Given the description of an element on the screen output the (x, y) to click on. 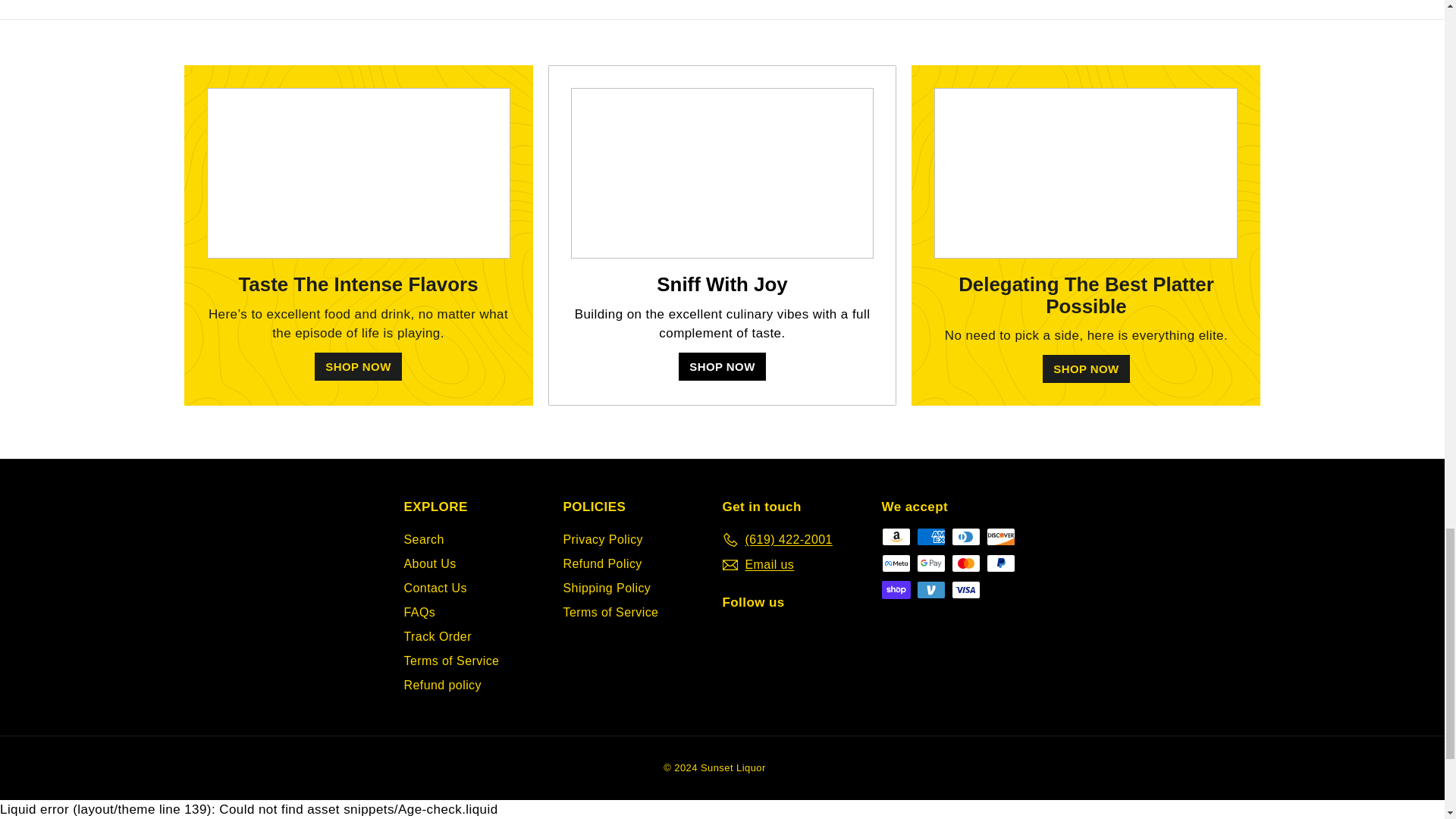
Google Pay (929, 563)
Meta Pay (895, 563)
Diners Club (964, 536)
Discover (999, 536)
Amazon (895, 536)
Mastercard (964, 563)
American Express (929, 536)
